Given the description of an element on the screen output the (x, y) to click on. 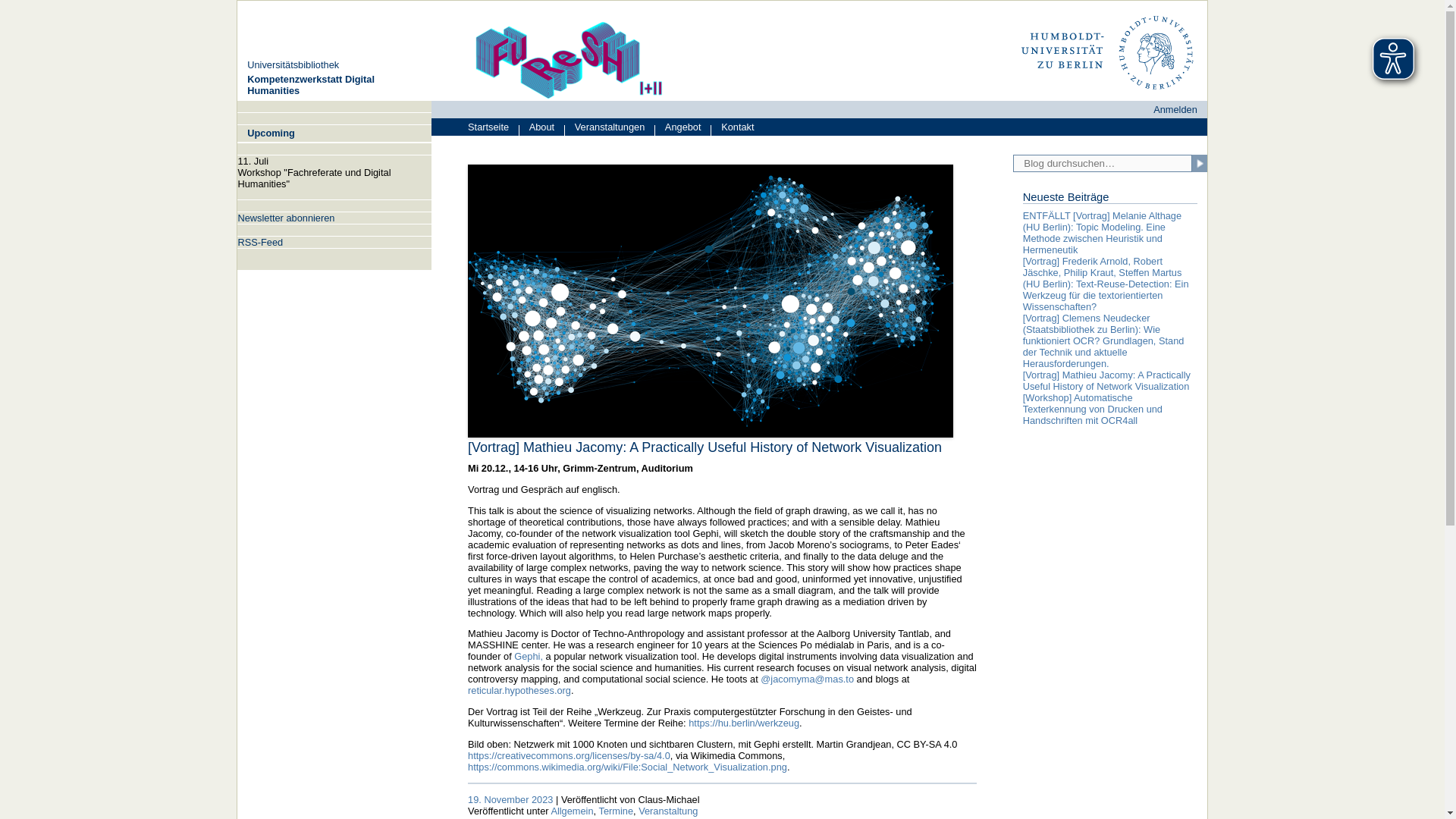
Anmelden (1174, 108)
Netzwerkvisualisierung (681, 817)
Allgemein (571, 810)
Gephi (567, 817)
About (541, 126)
RSS-Feed (259, 242)
phi, (535, 655)
Praxis (750, 817)
Kontakt (732, 126)
Netzwerk (606, 817)
Veranstaltung (668, 810)
Veranstaltungen (608, 126)
Newsletter abonnieren (285, 217)
Ge (520, 655)
19. November 2023 (510, 799)
